Given the description of an element on the screen output the (x, y) to click on. 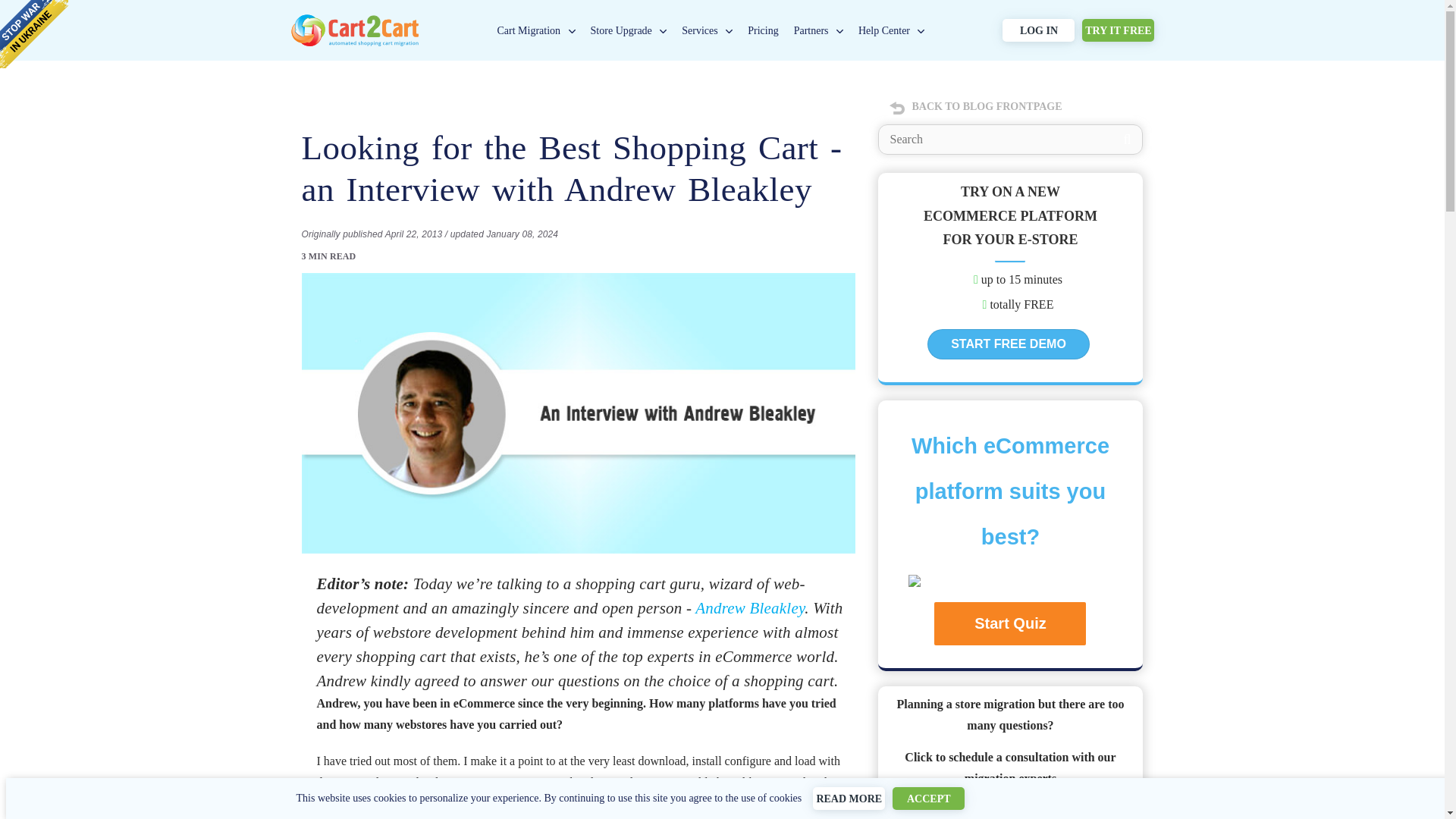
Click here to get to the main page (354, 19)
Back to Cart2Cart main page (354, 19)
Cart Migration (528, 30)
Try it free (1117, 29)
Sign In (1038, 29)
